Given the description of an element on the screen output the (x, y) to click on. 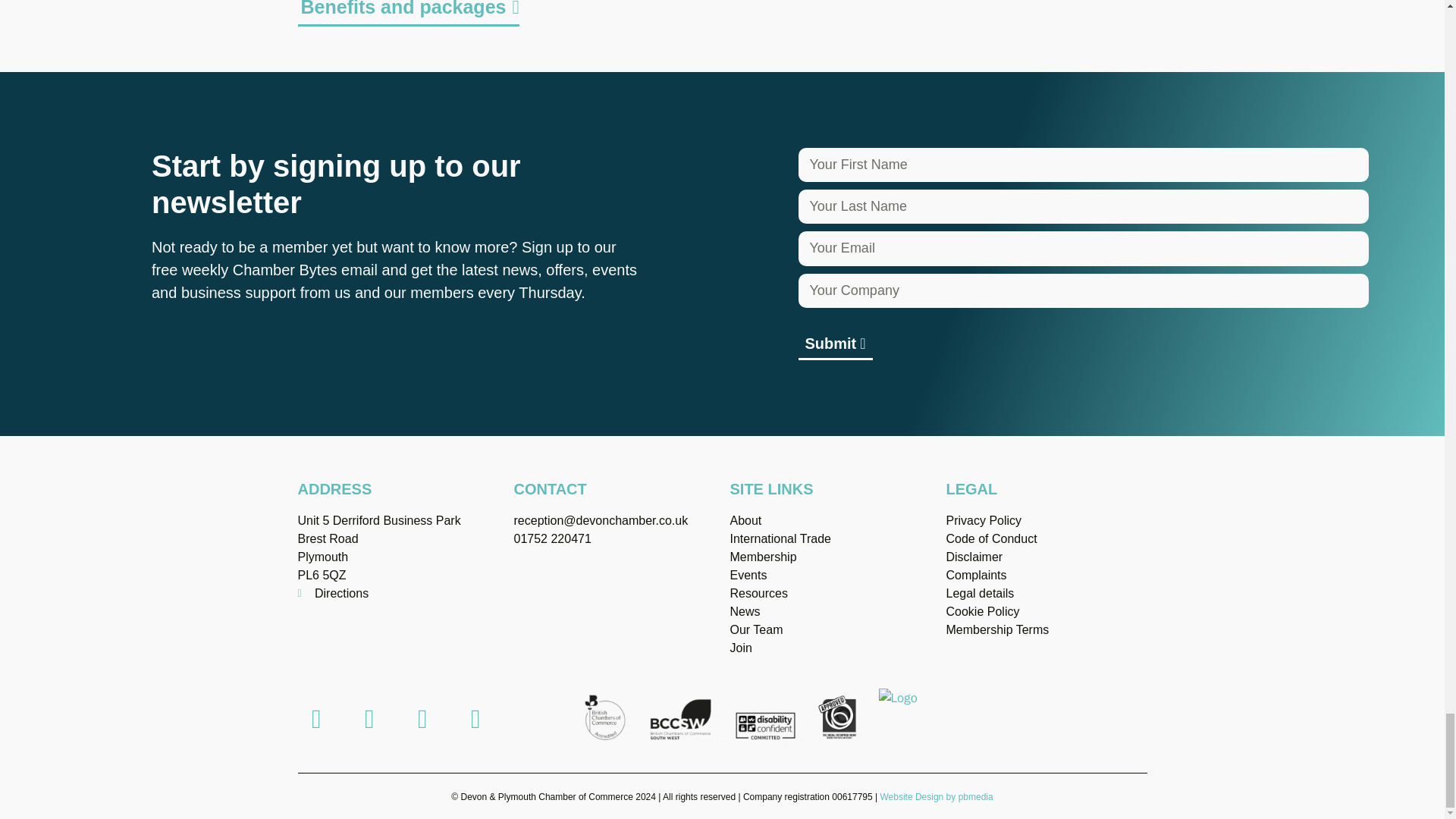
Logo (898, 698)
